Given the description of an element on the screen output the (x, y) to click on. 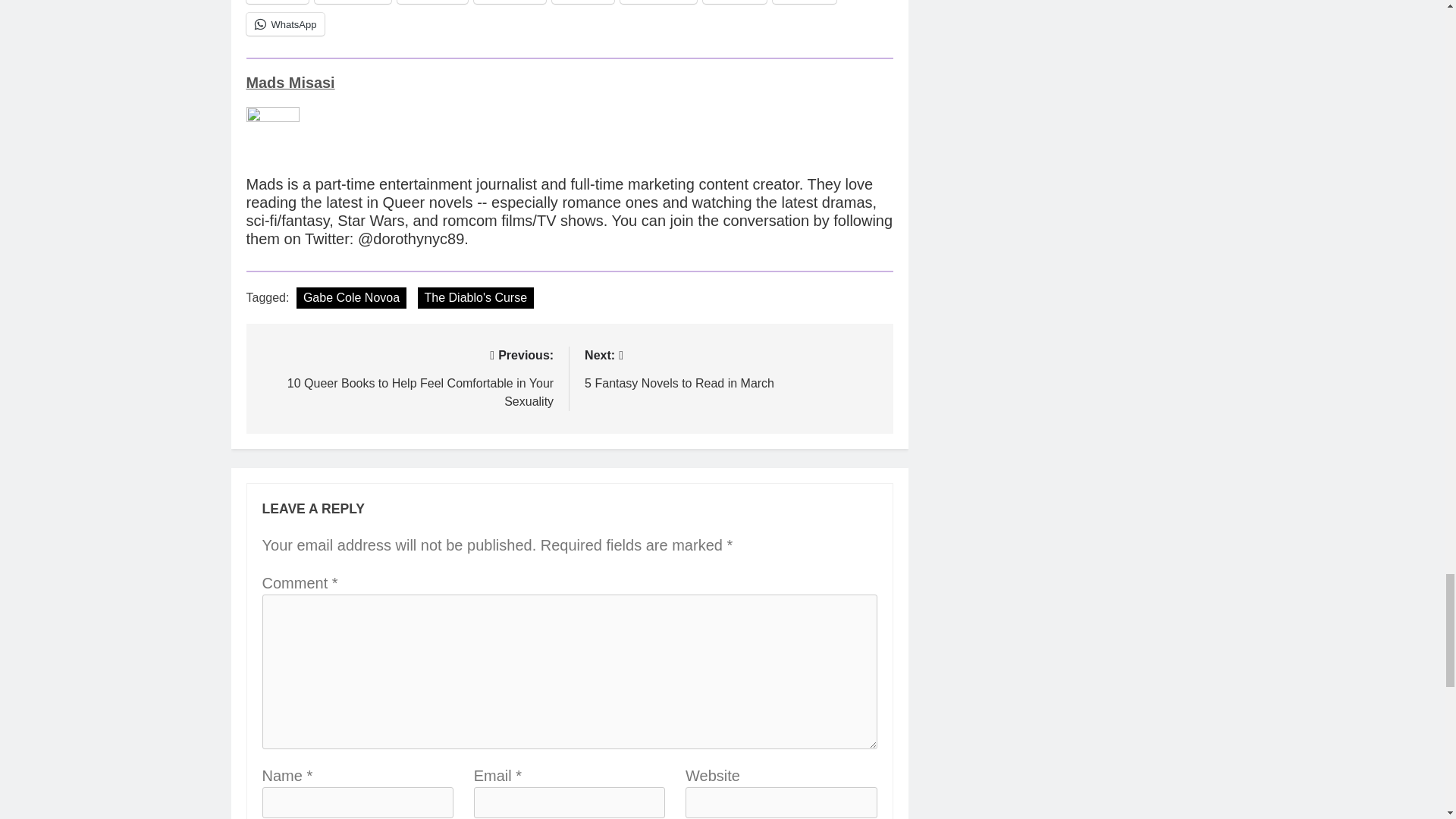
Click to share on Pinterest (510, 2)
Click to share on Mastodon (658, 2)
Click to share on WhatsApp (285, 24)
Click to share on Pocket (804, 2)
All posts by Mads Misasi (290, 82)
Click to share on Tumblr (735, 2)
Click to share on Twitter (276, 2)
Click to share on Reddit (582, 2)
Click to share on LinkedIn (432, 2)
Click to share on Facebook (352, 2)
